Given the description of an element on the screen output the (x, y) to click on. 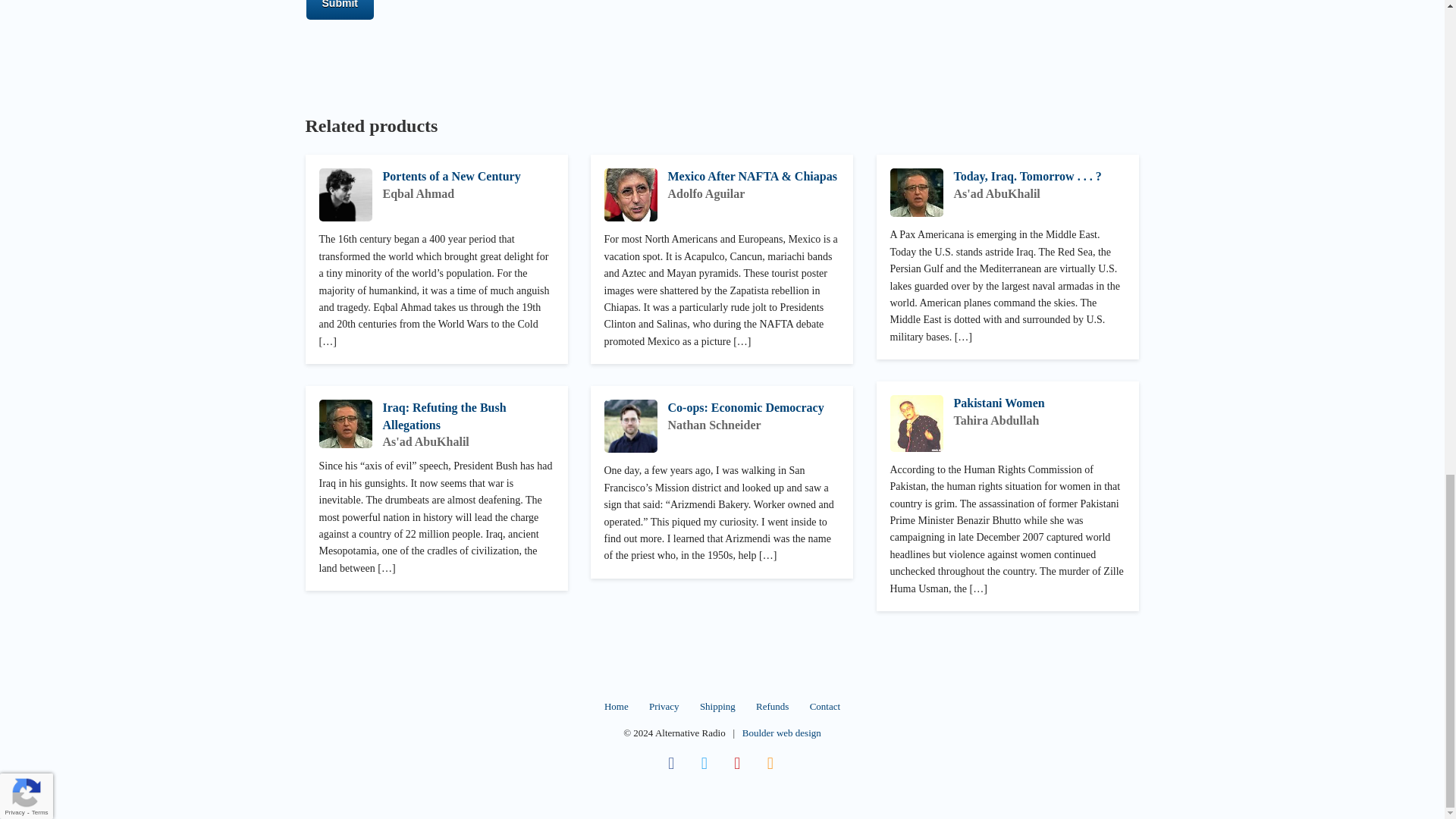
Submit (339, 9)
